Given the description of an element on the screen output the (x, y) to click on. 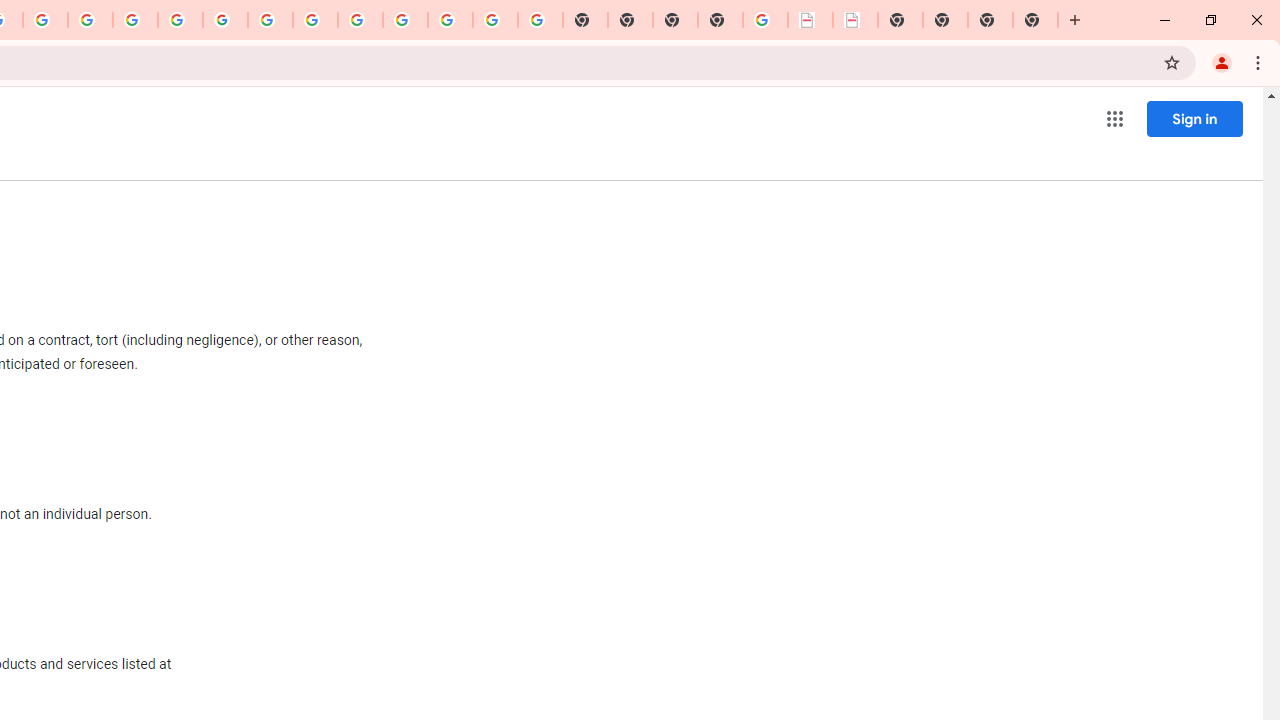
Google Images (540, 20)
YouTube (270, 20)
BAE Systems Brasil | BAE Systems (855, 20)
Restore (1210, 20)
Bookmark this tab (1171, 62)
Privacy Help Center - Policies Help (134, 20)
LAAD Defence & Security 2025 | BAE Systems (810, 20)
You (1221, 62)
Sign in (1194, 118)
Chrome (1260, 62)
